Given the description of an element on the screen output the (x, y) to click on. 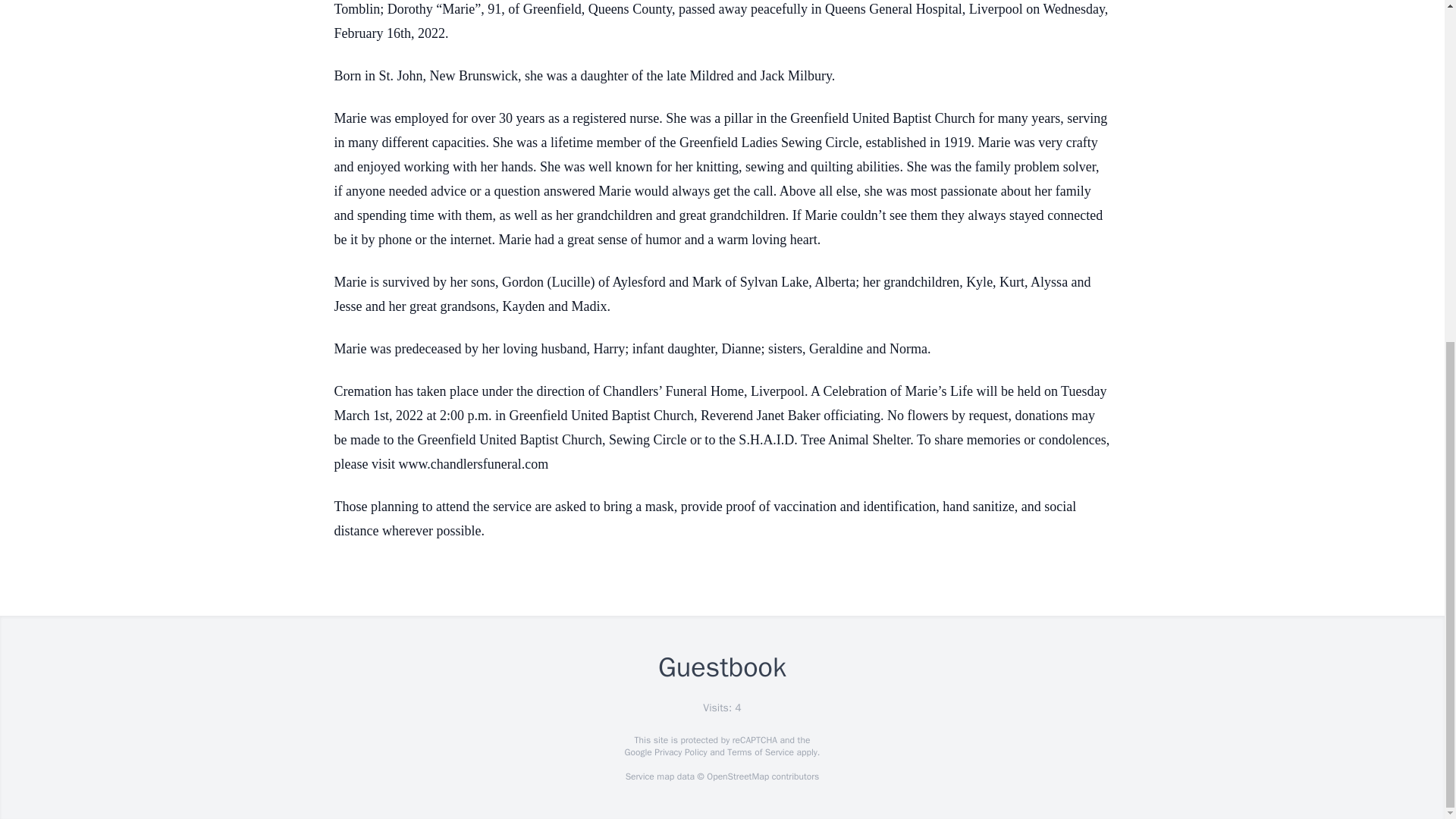
Privacy Policy (679, 752)
Terms of Service (759, 752)
OpenStreetMap (737, 776)
